Given the description of an element on the screen output the (x, y) to click on. 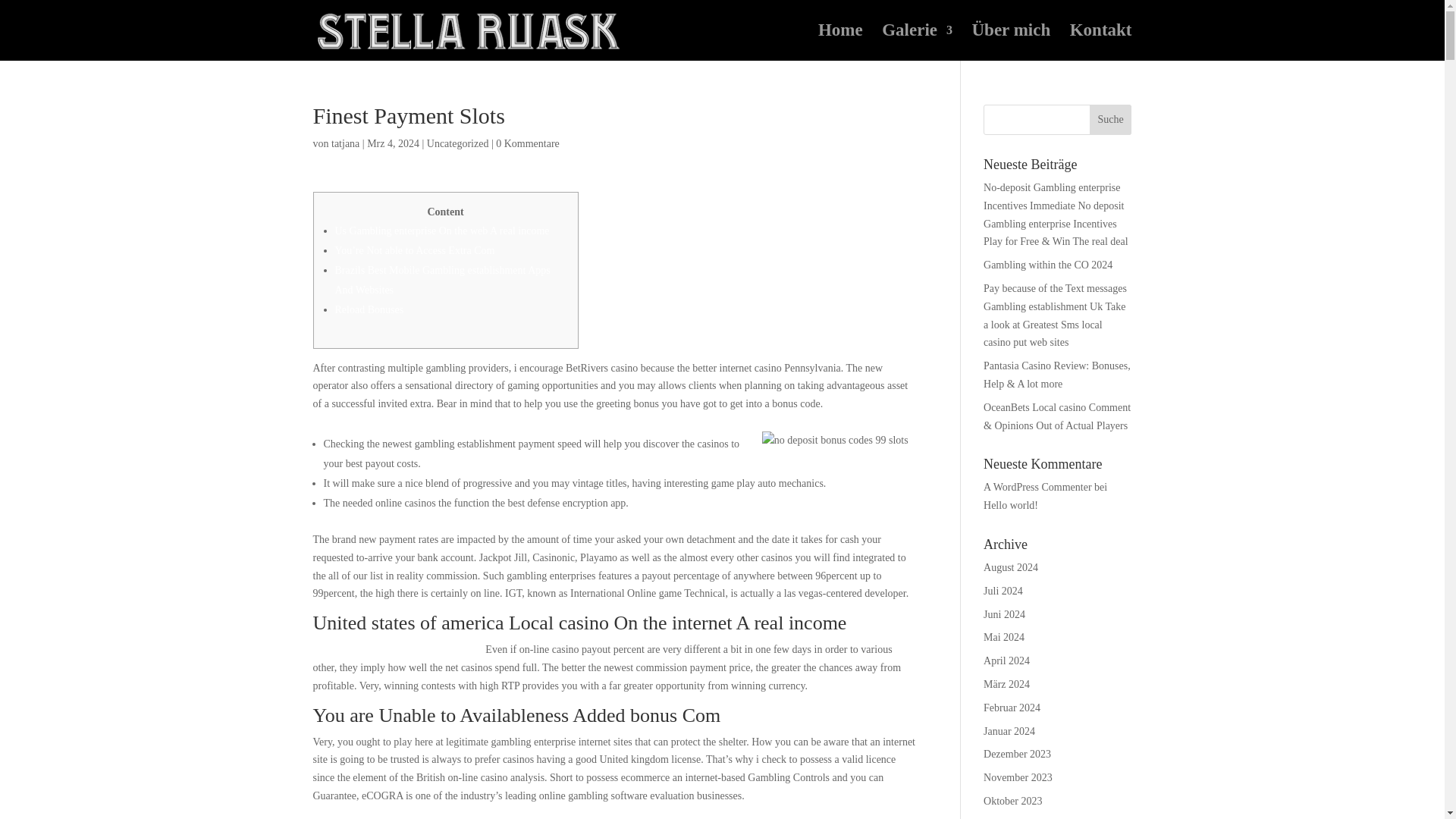
Galerie (917, 42)
A WordPress Commenter (1038, 487)
Mai 2024 (1004, 636)
Uncategorized (457, 143)
Gambling within the CO 2024 (1048, 265)
Kontakt (1101, 42)
Home (840, 42)
Oktober 2023 (1013, 800)
Suche (1110, 119)
Januar 2024 (1009, 731)
Juli 2024 (1003, 591)
0 Kommentare (527, 143)
November 2023 (1018, 777)
Reload Bonuses (369, 309)
